Given the description of an element on the screen output the (x, y) to click on. 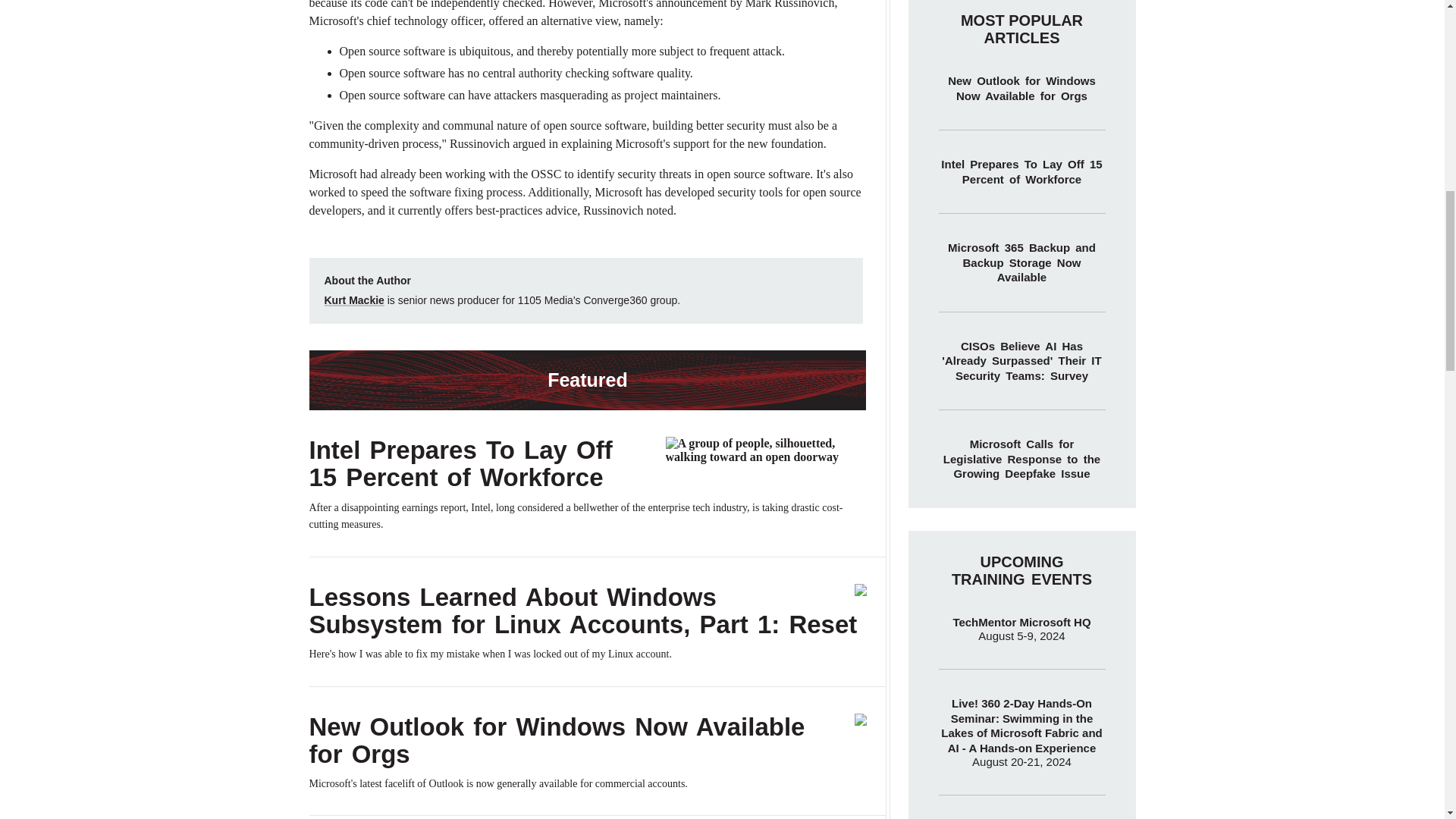
Intel Prepares To Lay Off 15 Percent of Workforce (460, 463)
Kurt Mackie (354, 300)
New Outlook for Windows Now Available for Orgs (556, 740)
